Given the description of an element on the screen output the (x, y) to click on. 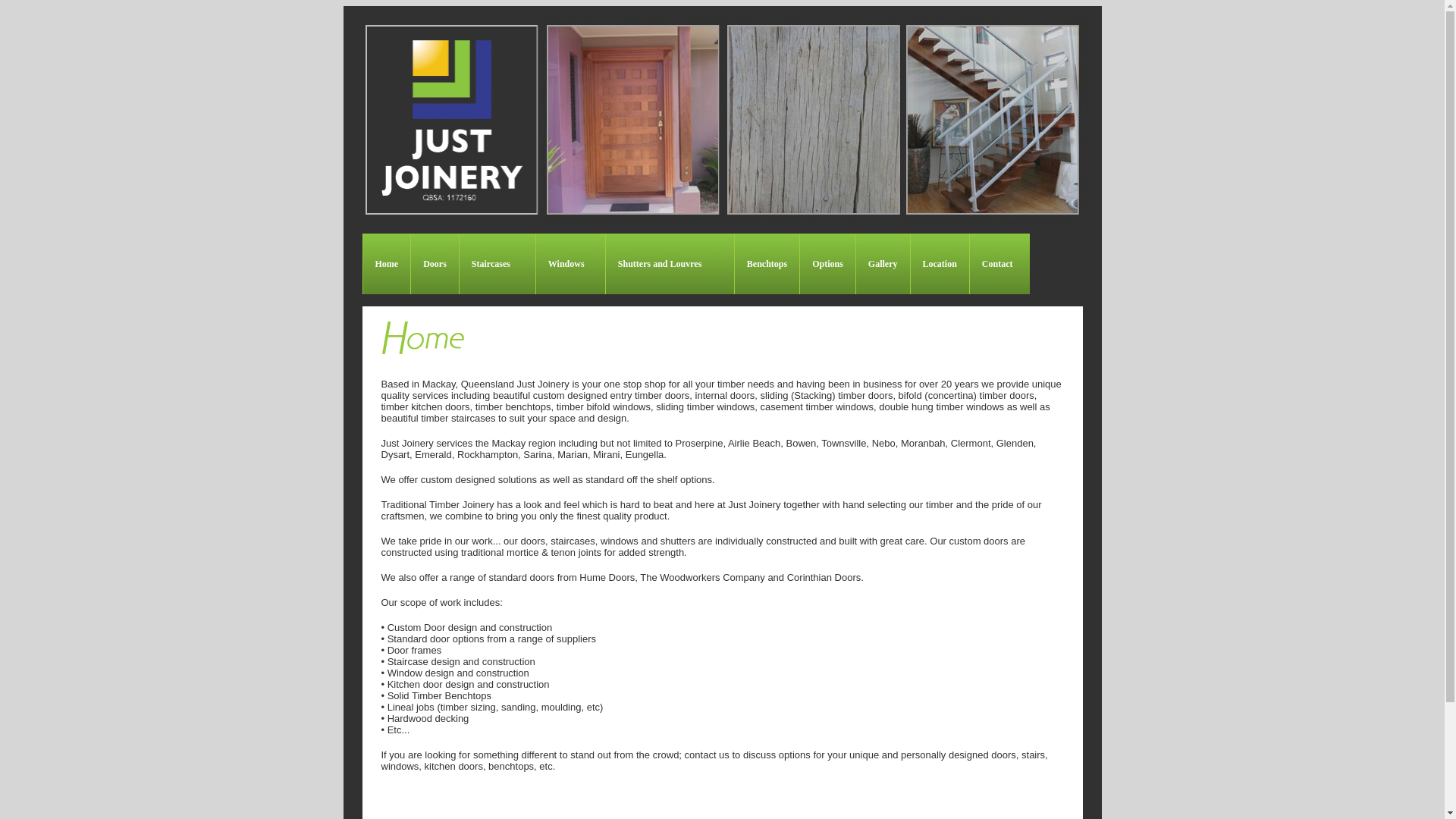
Windows Element type: text (570, 263)
Benchtops Element type: text (766, 263)
Gallery Element type: text (882, 263)
Shutters and Louvres Element type: text (669, 263)
Doors Element type: text (434, 263)
Contact Element type: text (999, 263)
Options Element type: text (827, 263)
Location Element type: text (939, 263)
Home Element type: text (386, 263)
Header-2 Element type: hover (821, 119)
Staircases Element type: text (496, 263)
